Given the description of an element on the screen output the (x, y) to click on. 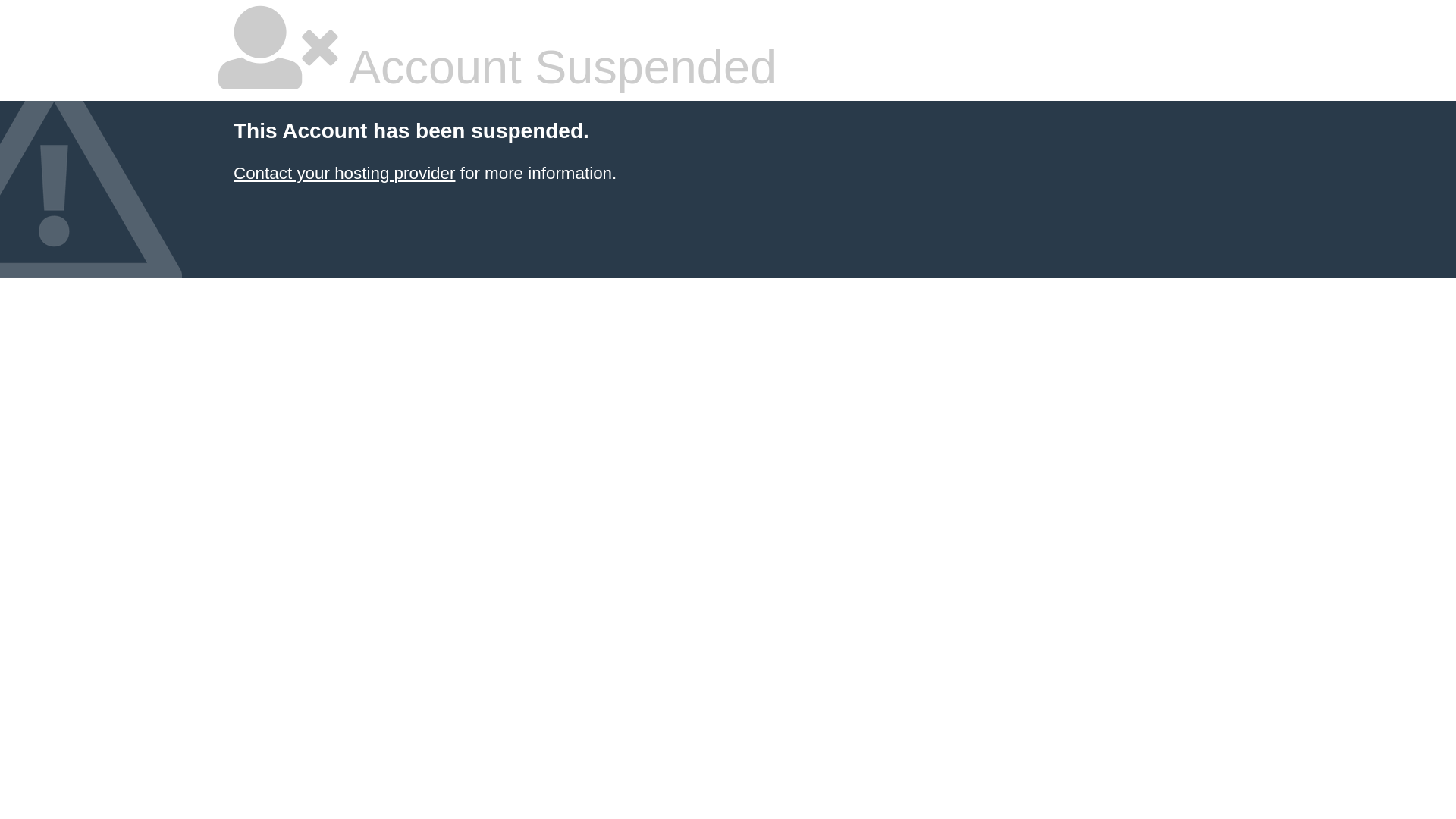
Contact your hosting provider Element type: text (344, 172)
